Given the description of an element on the screen output the (x, y) to click on. 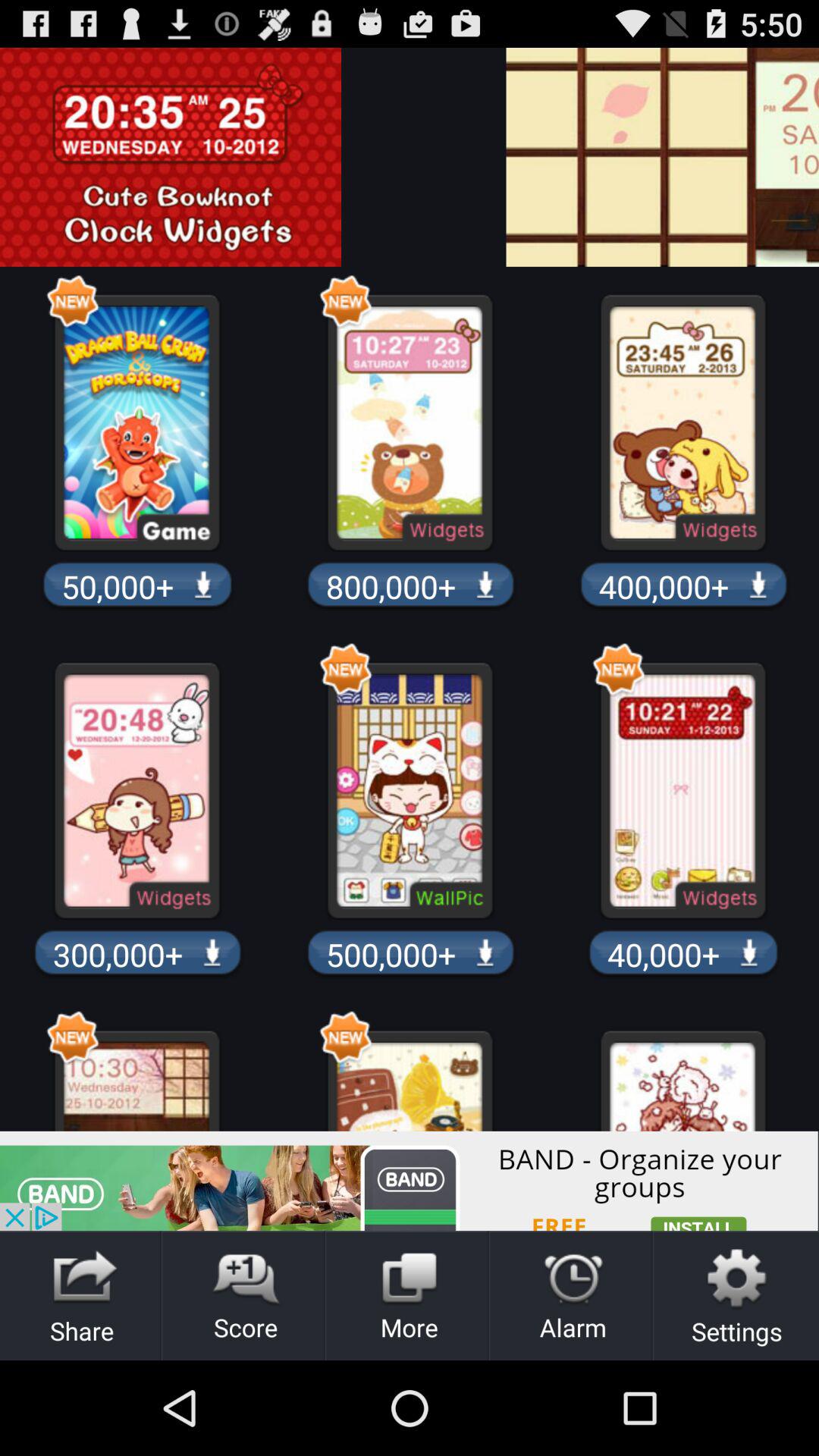
select widget category (808, 156)
